Given the description of an element on the screen output the (x, y) to click on. 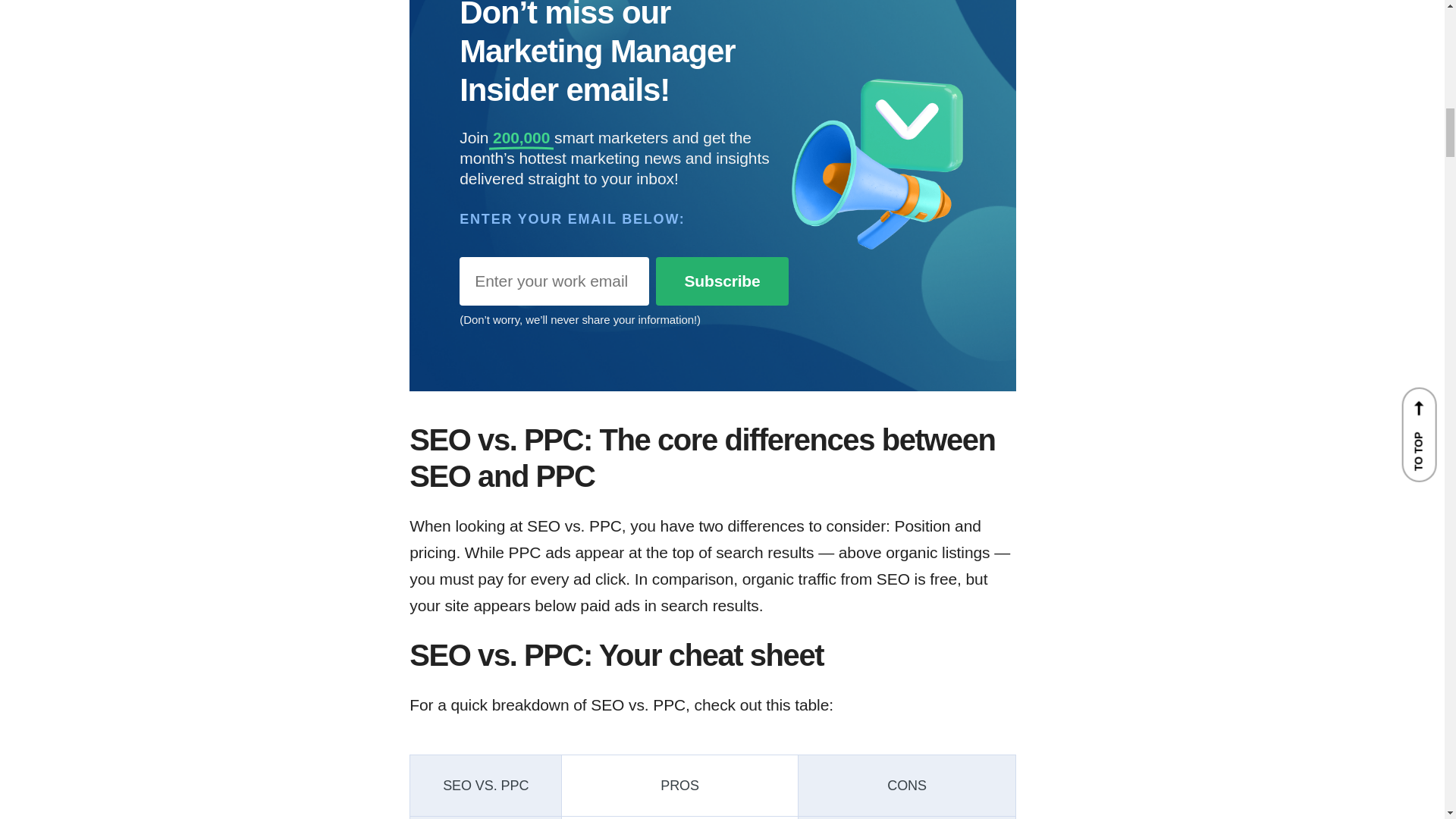
Subscribe (722, 281)
